Given the description of an element on the screen output the (x, y) to click on. 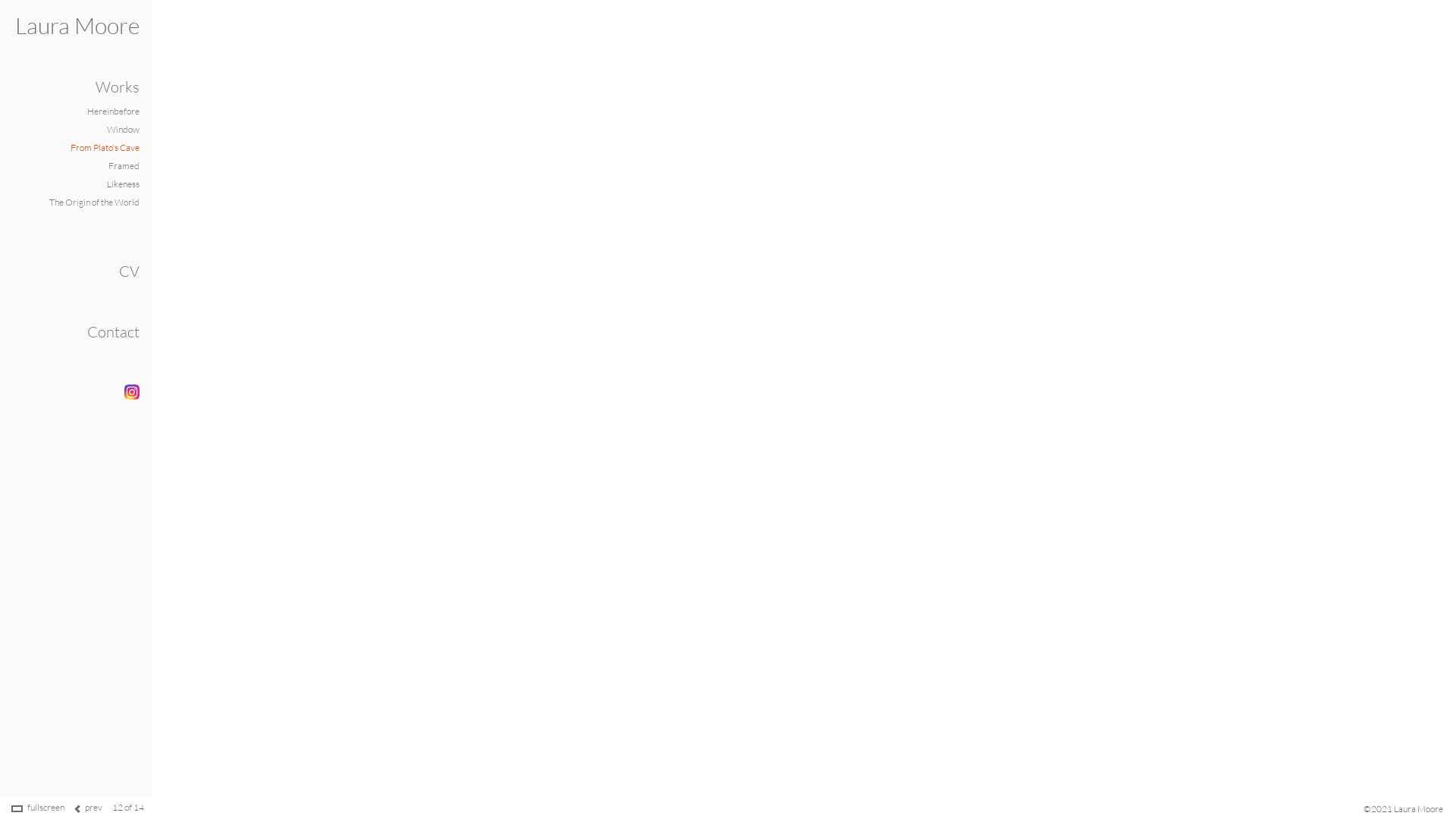
Window Element type: text (122, 128)
Likeness Element type: text (122, 183)
prev Element type: text (93, 806)
12 of 14 Element type: text (128, 806)
The Origin of the World Element type: text (94, 201)
From Plato's Cave Element type: text (104, 147)
Contact Element type: text (113, 331)
fullscreen Element type: text (45, 806)
Hereinbefore Element type: text (113, 110)
Framed Element type: text (123, 165)
Works Element type: text (117, 86)
CV Element type: text (129, 270)
